Given the description of an element on the screen output the (x, y) to click on. 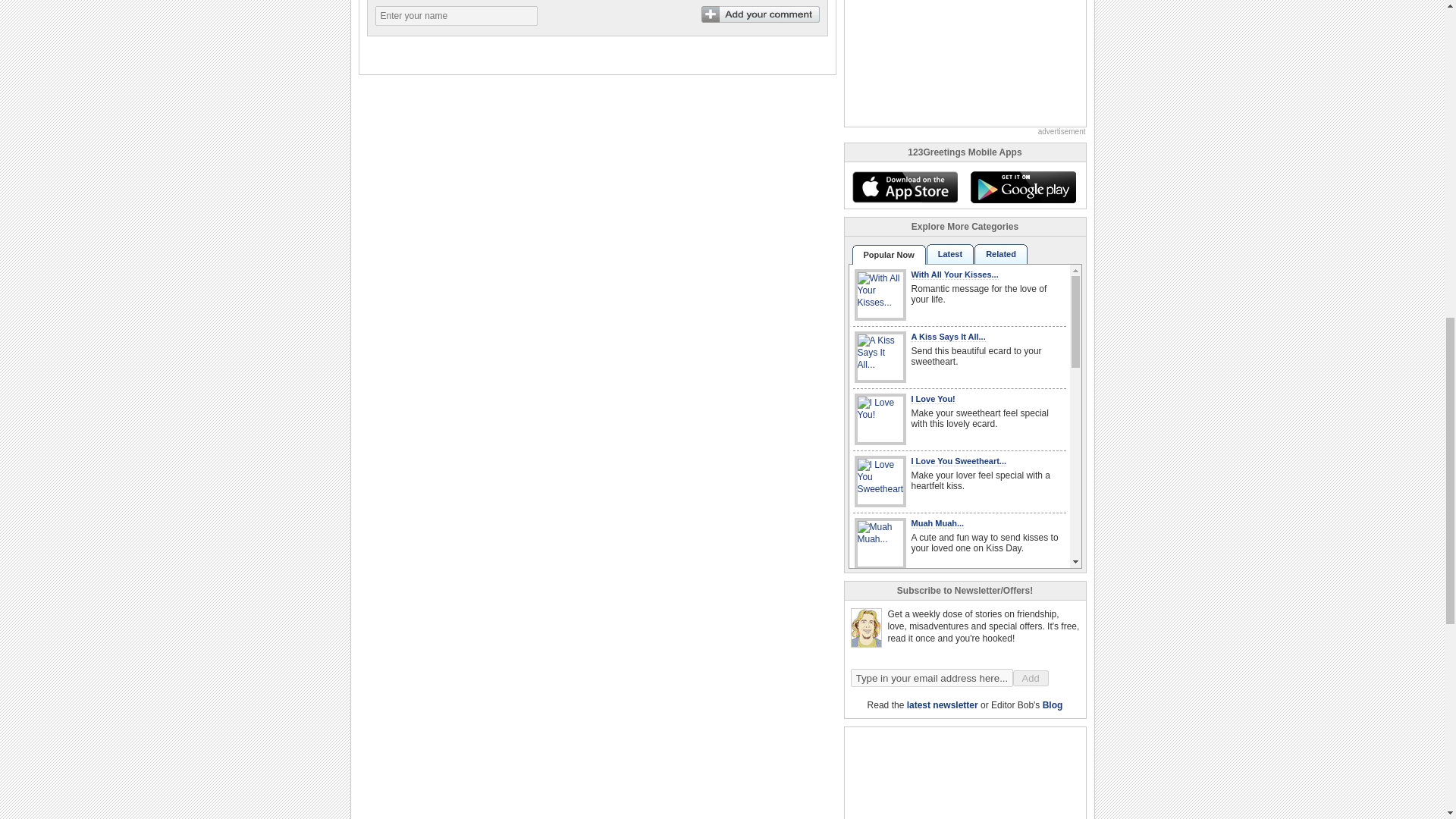
Type in your email address here... (931, 678)
